Given the description of an element on the screen output the (x, y) to click on. 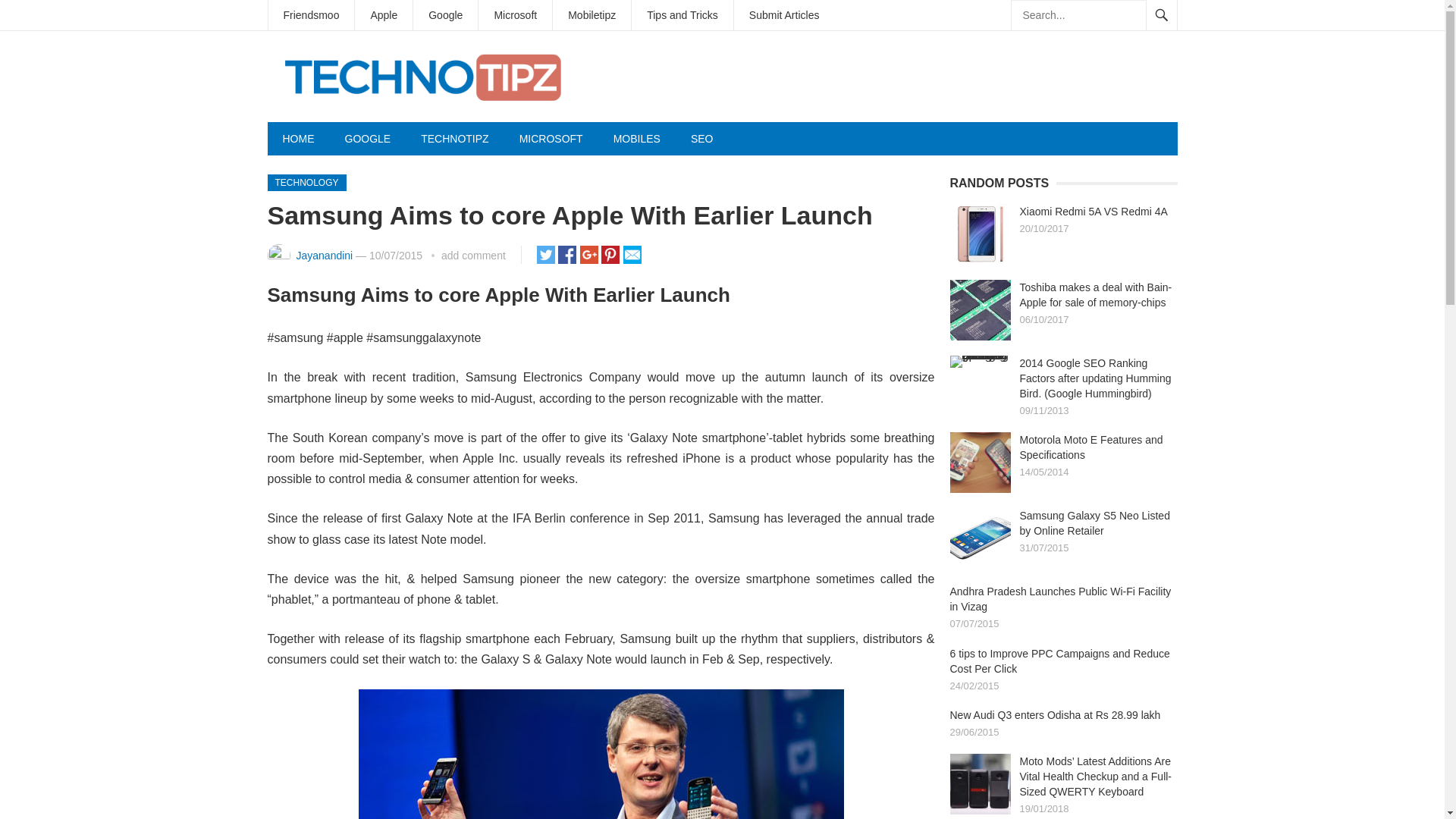
Mobiletipz (591, 15)
HOME (297, 138)
Microsoft (515, 15)
Posts by Jayanandini (323, 255)
Submit Articles (783, 15)
MOBILES (636, 138)
Friendsmoo (311, 15)
View all posts in Technology (306, 182)
SEO (702, 138)
GOOGLE (367, 138)
Tips and Tricks (682, 15)
MICROSOFT (550, 138)
Google (445, 15)
Apple (383, 15)
TECHNOTIPZ (454, 138)
